Given the description of an element on the screen output the (x, y) to click on. 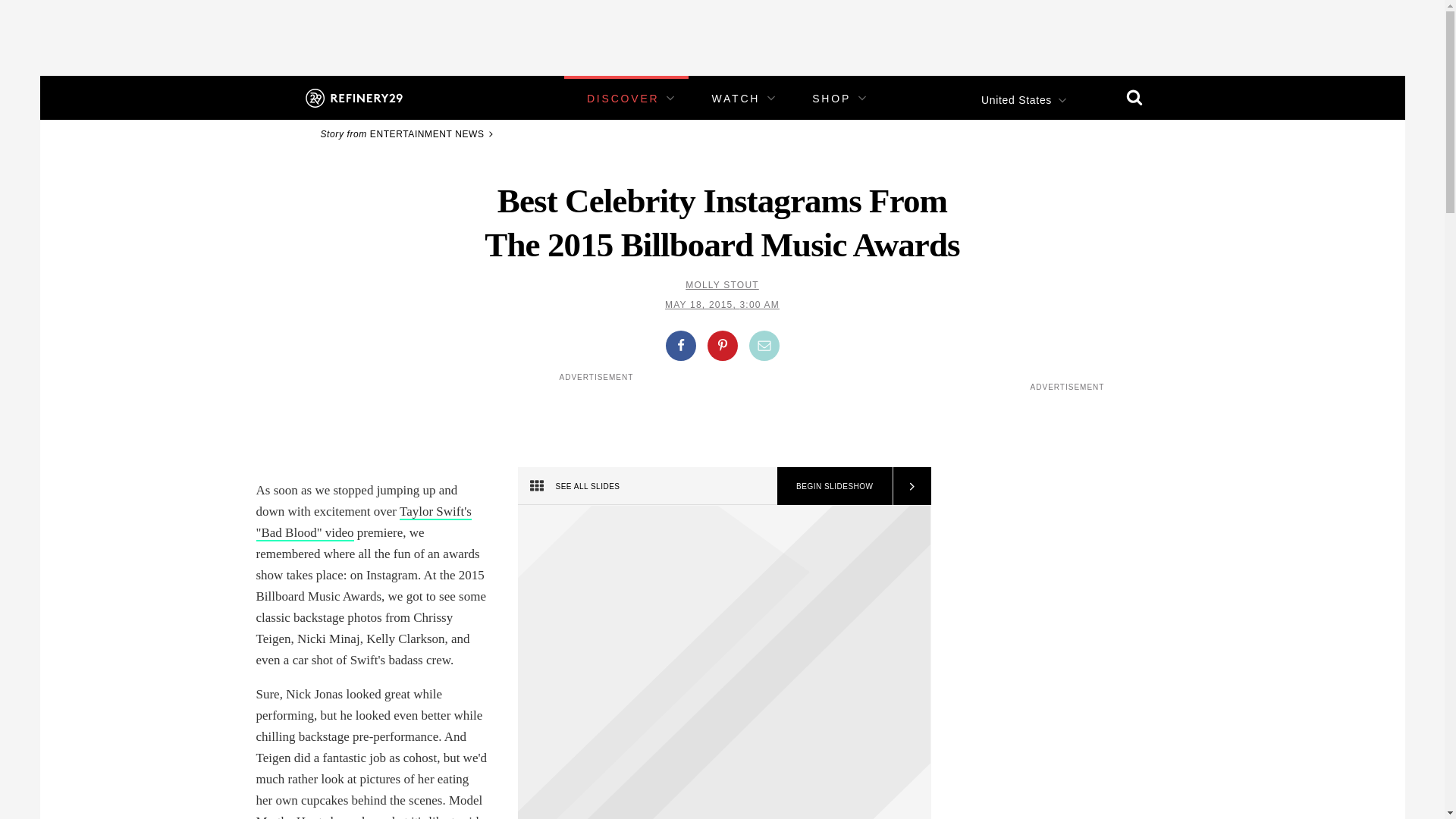
DISCOVER (622, 98)
Share by Email (763, 345)
Begin Slideshow (834, 485)
SHOP (831, 98)
MOLLY STOUT (721, 285)
MAY 18, 2015, 3:00 AM (721, 304)
Share on Pinterest (721, 345)
Taylor Swift's "Bad Blood" video (363, 522)
BEGIN SLIDESHOW (834, 485)
Next Slide (910, 485)
